Given the description of an element on the screen output the (x, y) to click on. 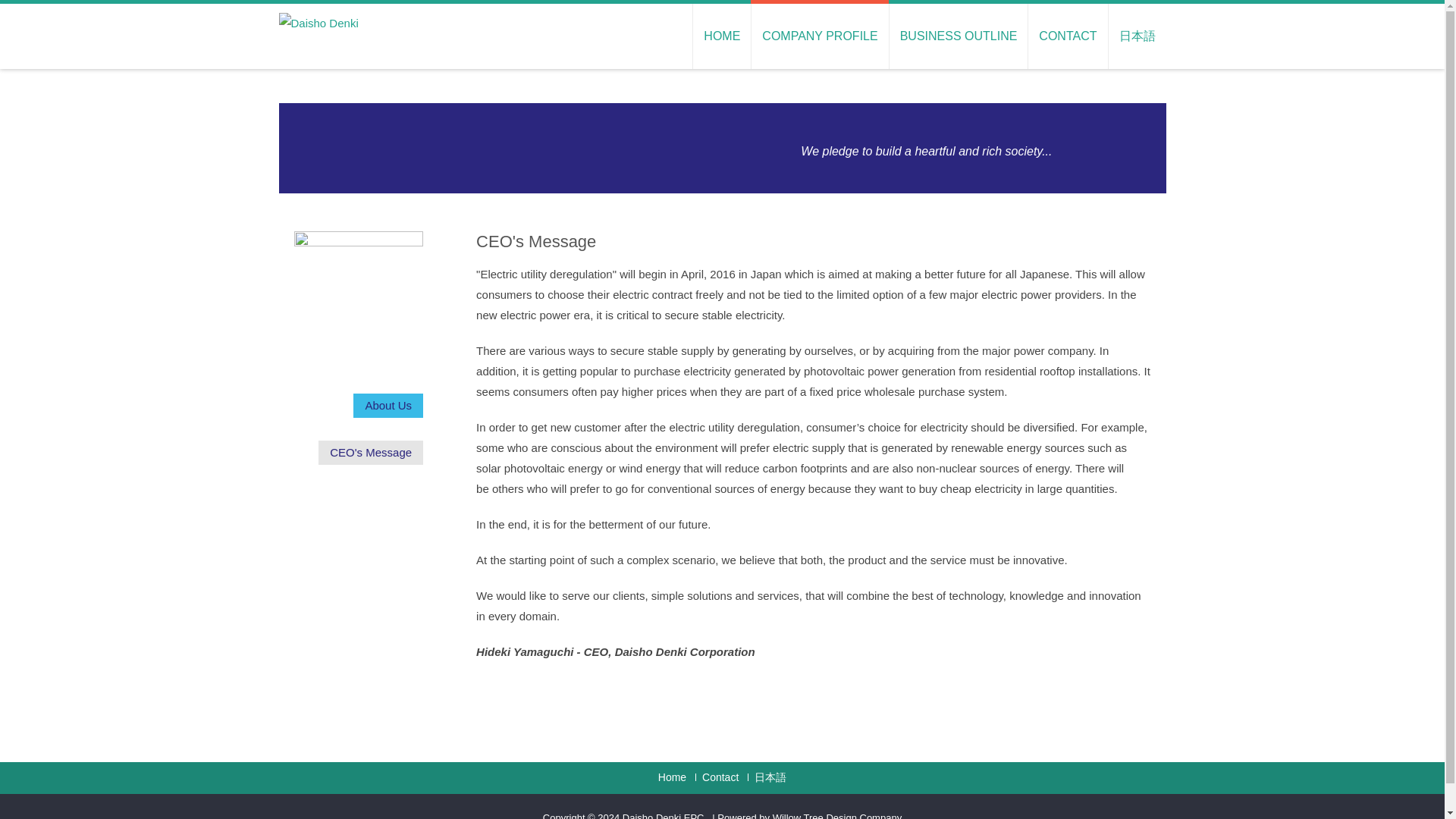
CEO's Message (370, 452)
About Us (388, 405)
Contact (716, 777)
HOME (722, 36)
CONTACT (1066, 36)
BUSINESS OUTLINE (957, 36)
AccessPress Themes (837, 815)
Home (671, 777)
Daisho Denki EPC (664, 815)
Willow Tree Design Company (837, 815)
